Given the description of an element on the screen output the (x, y) to click on. 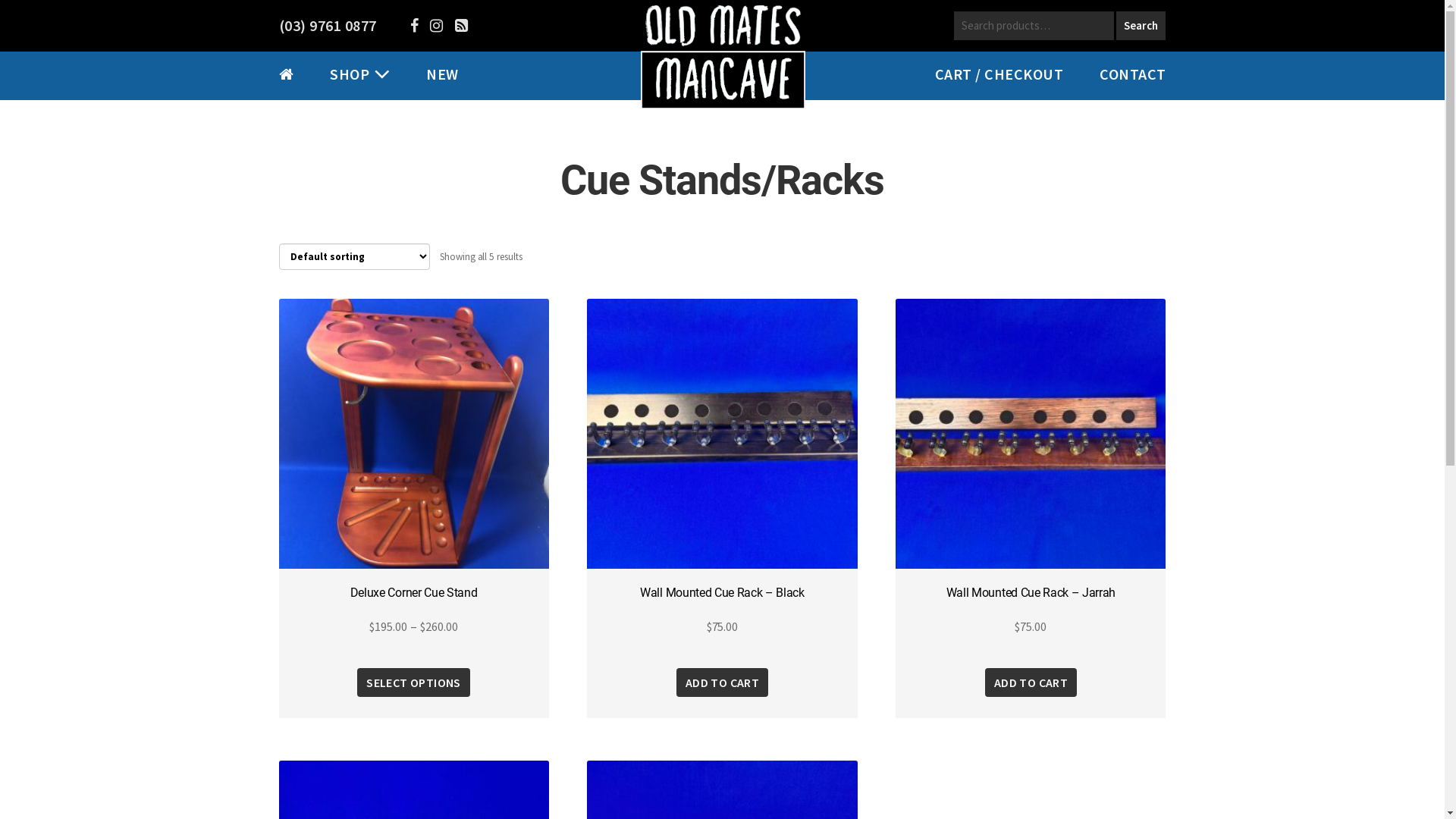
SHOP Element type: text (349, 74)
SELECT OPTIONS Element type: text (413, 682)
ADD TO CART Element type: text (1030, 682)
(03) 9761 0877 Element type: text (327, 24)
CART / CHECKOUT Element type: text (998, 74)
CONTACT Element type: text (1132, 74)
ADD TO CART Element type: text (722, 682)
Search Element type: text (1140, 25)
NEW Element type: text (442, 74)
